Given the description of an element on the screen output the (x, y) to click on. 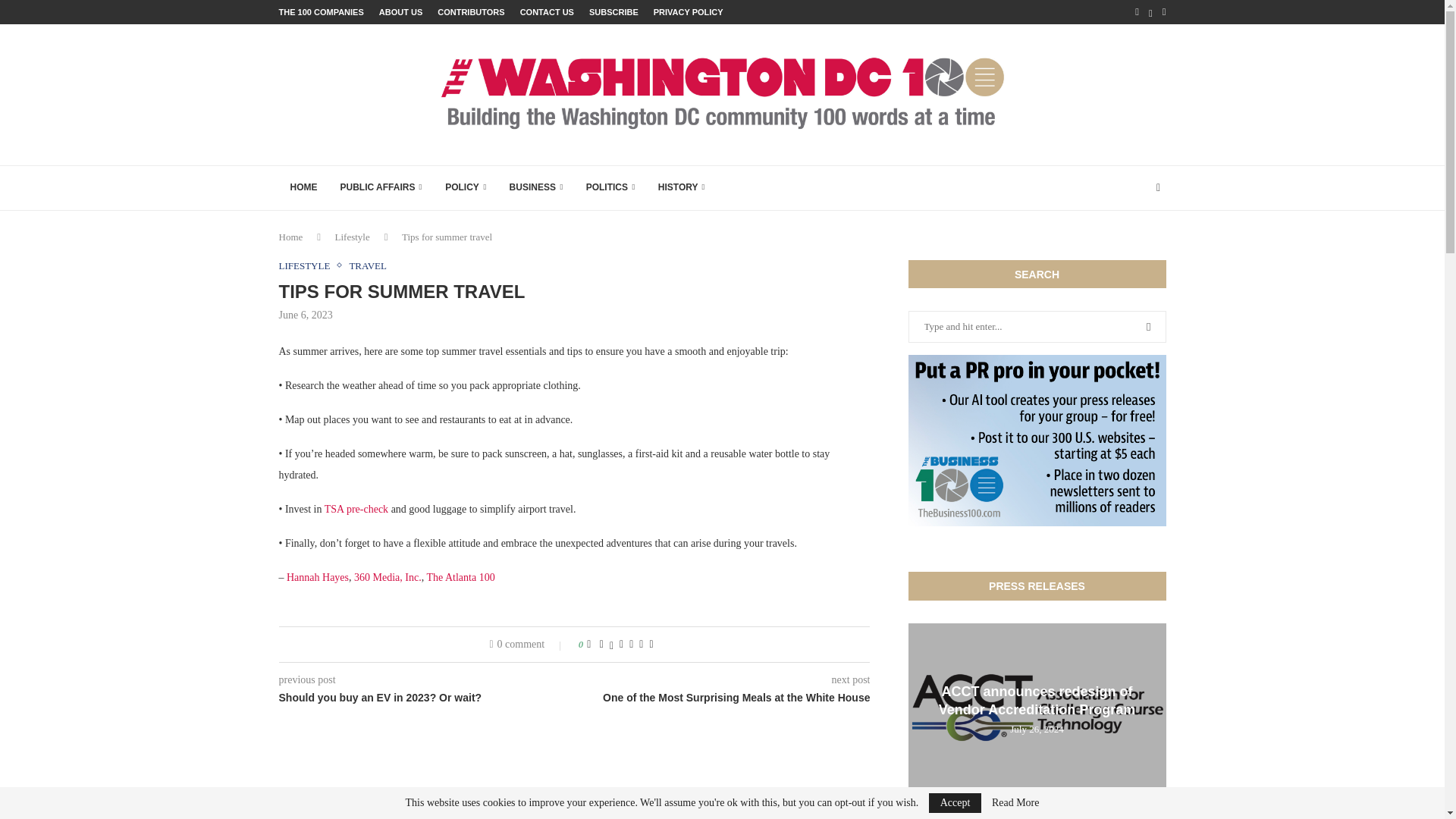
HOME (304, 187)
PUBLIC AFFAIRS (381, 187)
PRIVACY POLICY (688, 12)
SUBSCRIBE (614, 12)
CONTRIBUTORS (470, 12)
THE 100 COMPANIES (321, 12)
CONTACT US (546, 12)
ABOUT US (400, 12)
